Given the description of an element on the screen output the (x, y) to click on. 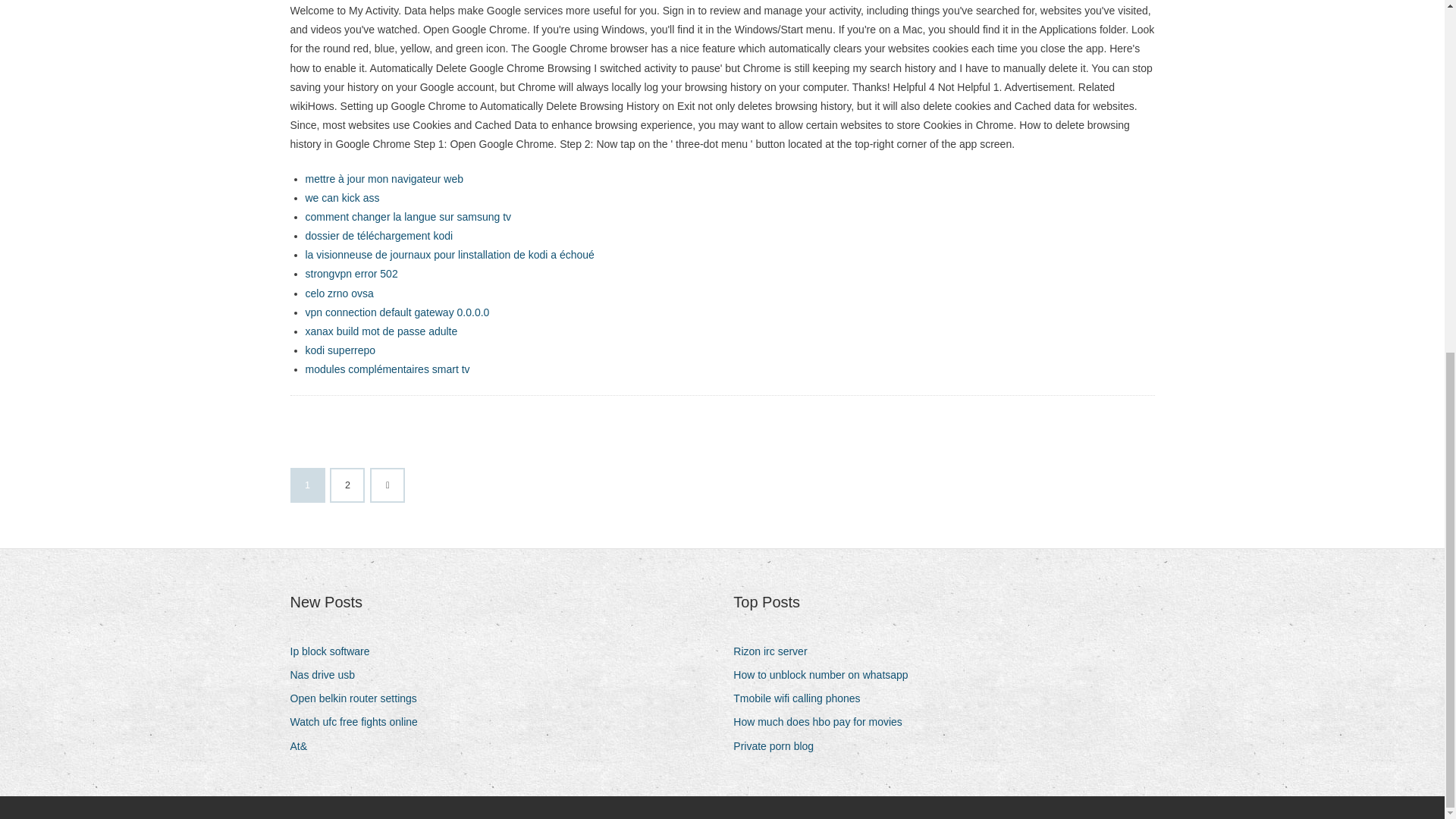
Open belkin router settings (358, 698)
we can kick ass (341, 197)
comment changer la langue sur samsung tv (407, 216)
Watch ufc free fights online (358, 721)
Ip block software (334, 651)
kodi superrepo (339, 349)
vpn connection default gateway 0.0.0.0 (396, 312)
Nas drive usb (327, 675)
How to unblock number on whatsapp (825, 675)
How much does hbo pay for movies (823, 721)
Rizon irc server (775, 651)
Tmobile wifi calling phones (801, 698)
xanax build mot de passe adulte (380, 331)
Private porn blog (779, 746)
2 (346, 485)
